Given the description of an element on the screen output the (x, y) to click on. 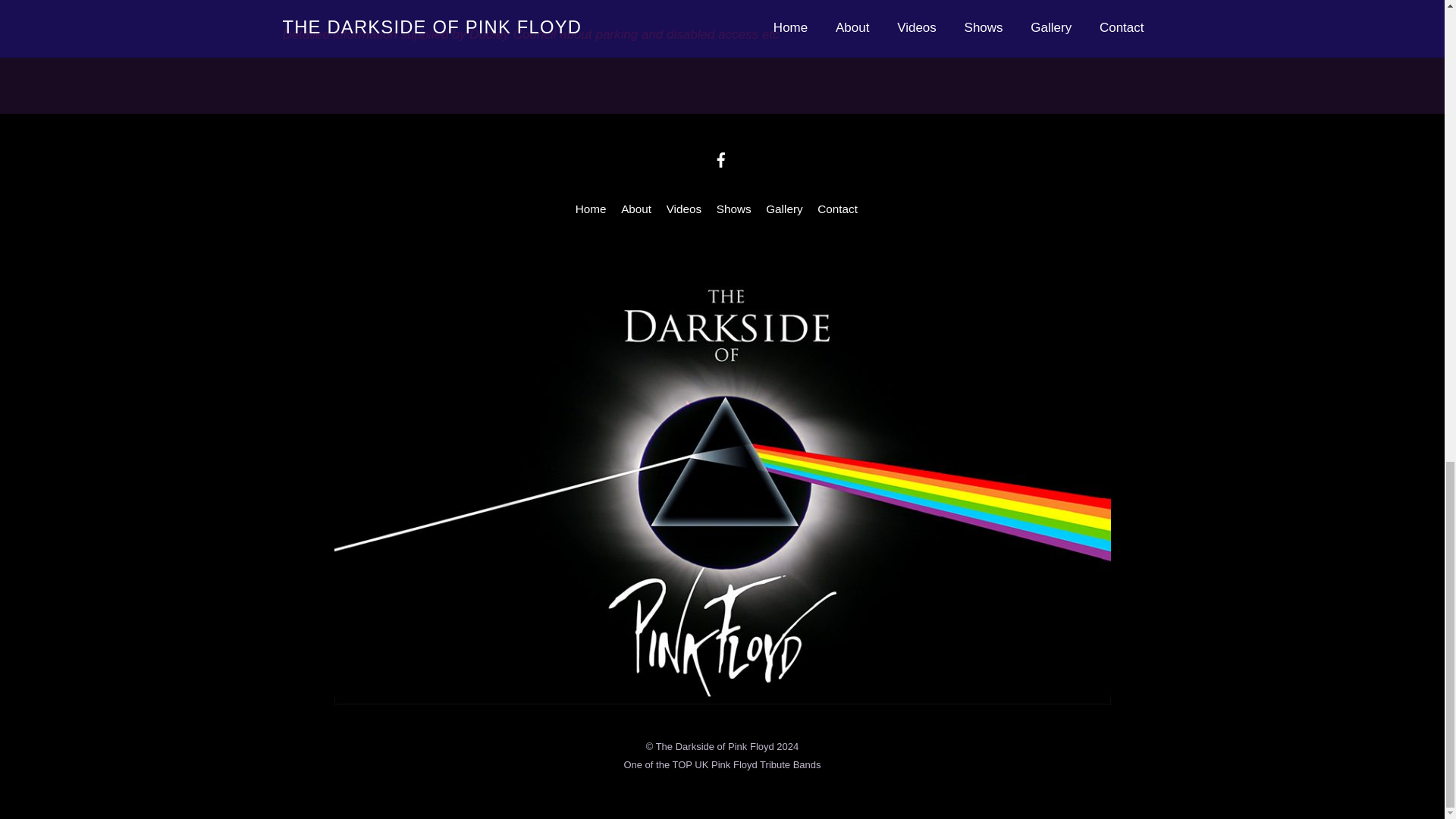
Shows (733, 208)
Videos (683, 208)
Contact (836, 208)
Gallery (783, 208)
About (635, 208)
Home (591, 208)
